Given the description of an element on the screen output the (x, y) to click on. 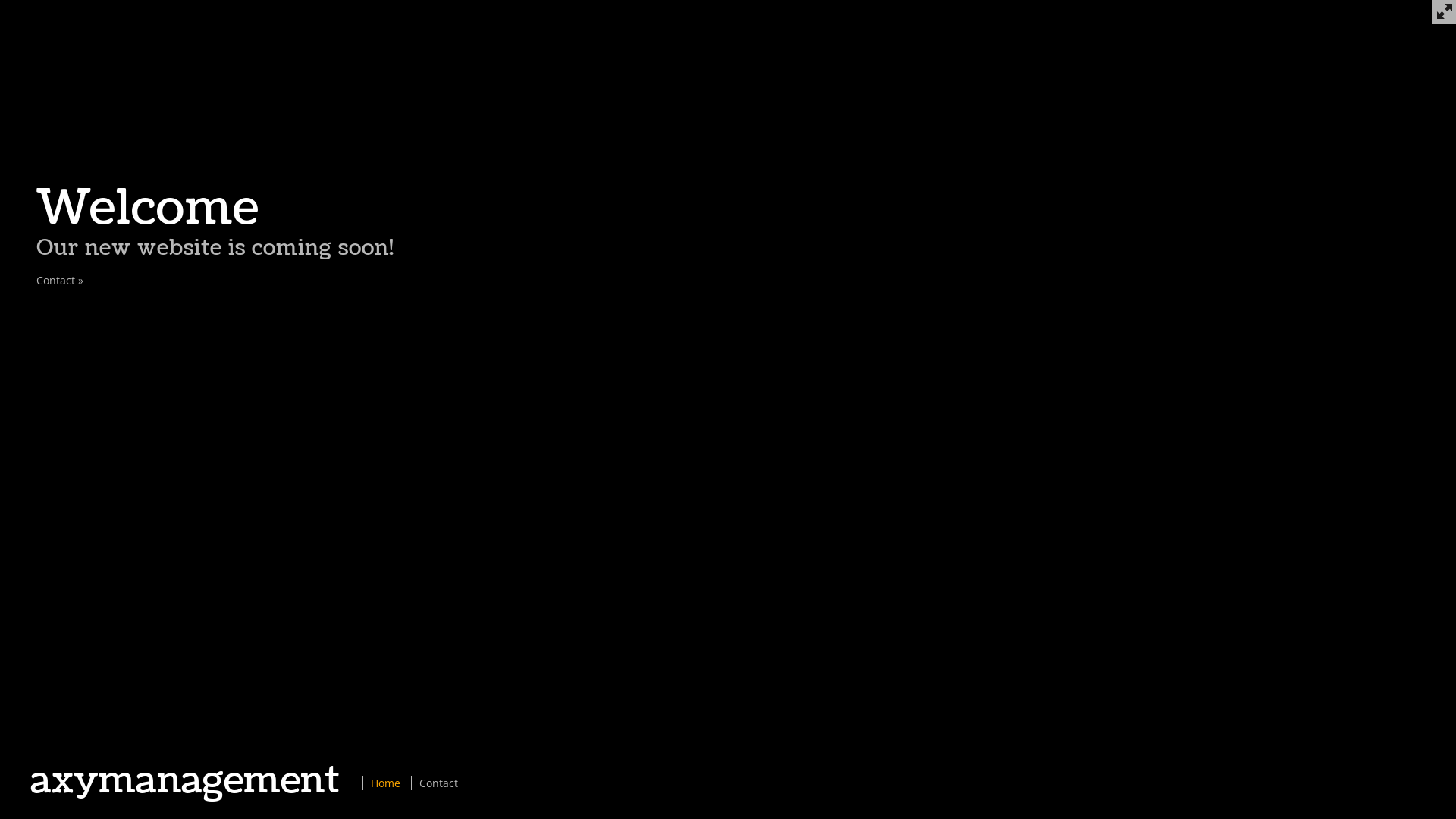
Home Element type: text (385, 782)
Contact Element type: text (438, 782)
